Given the description of an element on the screen output the (x, y) to click on. 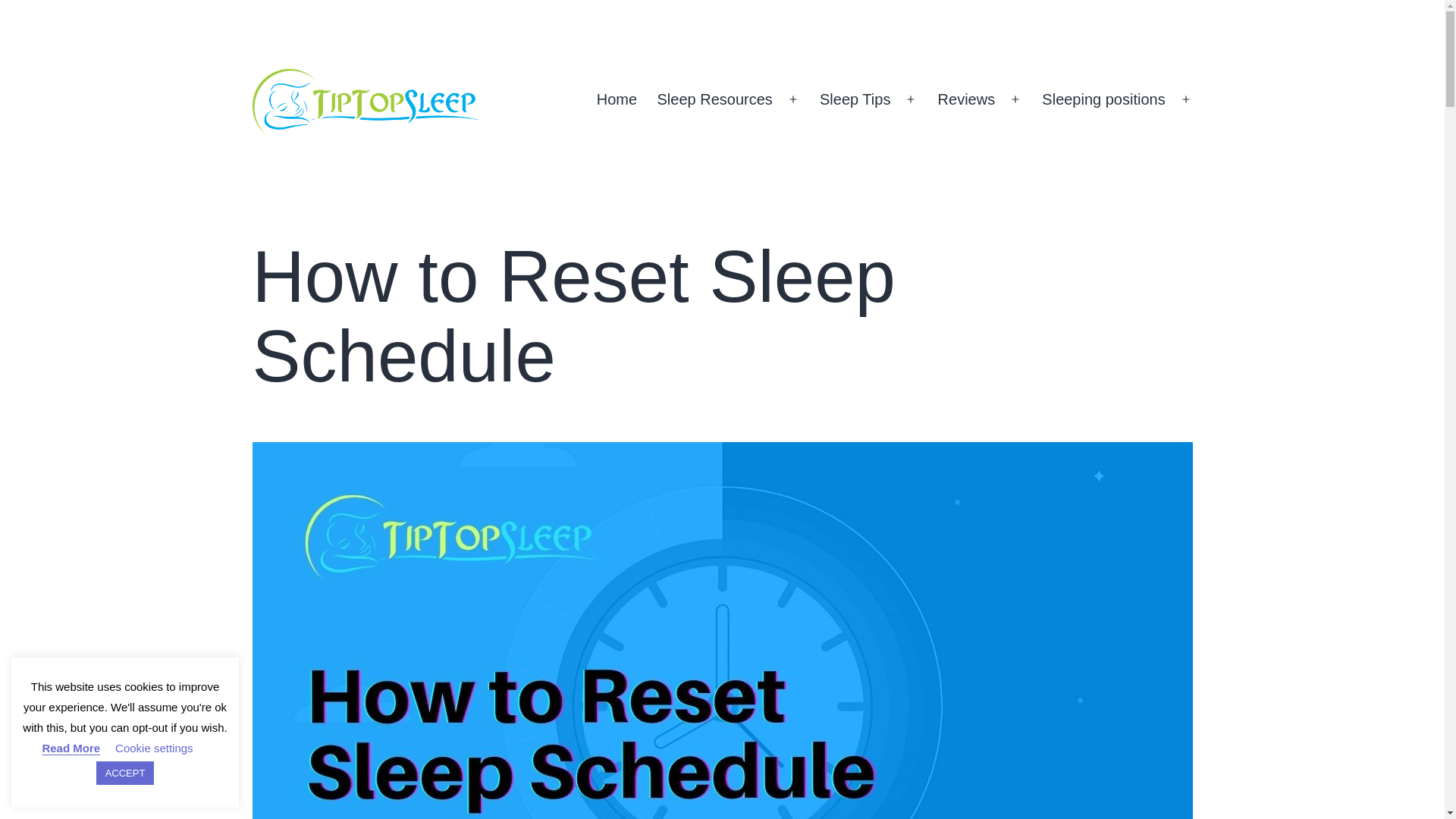
Home (616, 99)
Sleep Tips (855, 99)
Reviews (965, 99)
Sleep Resources (714, 99)
